Given the description of an element on the screen output the (x, y) to click on. 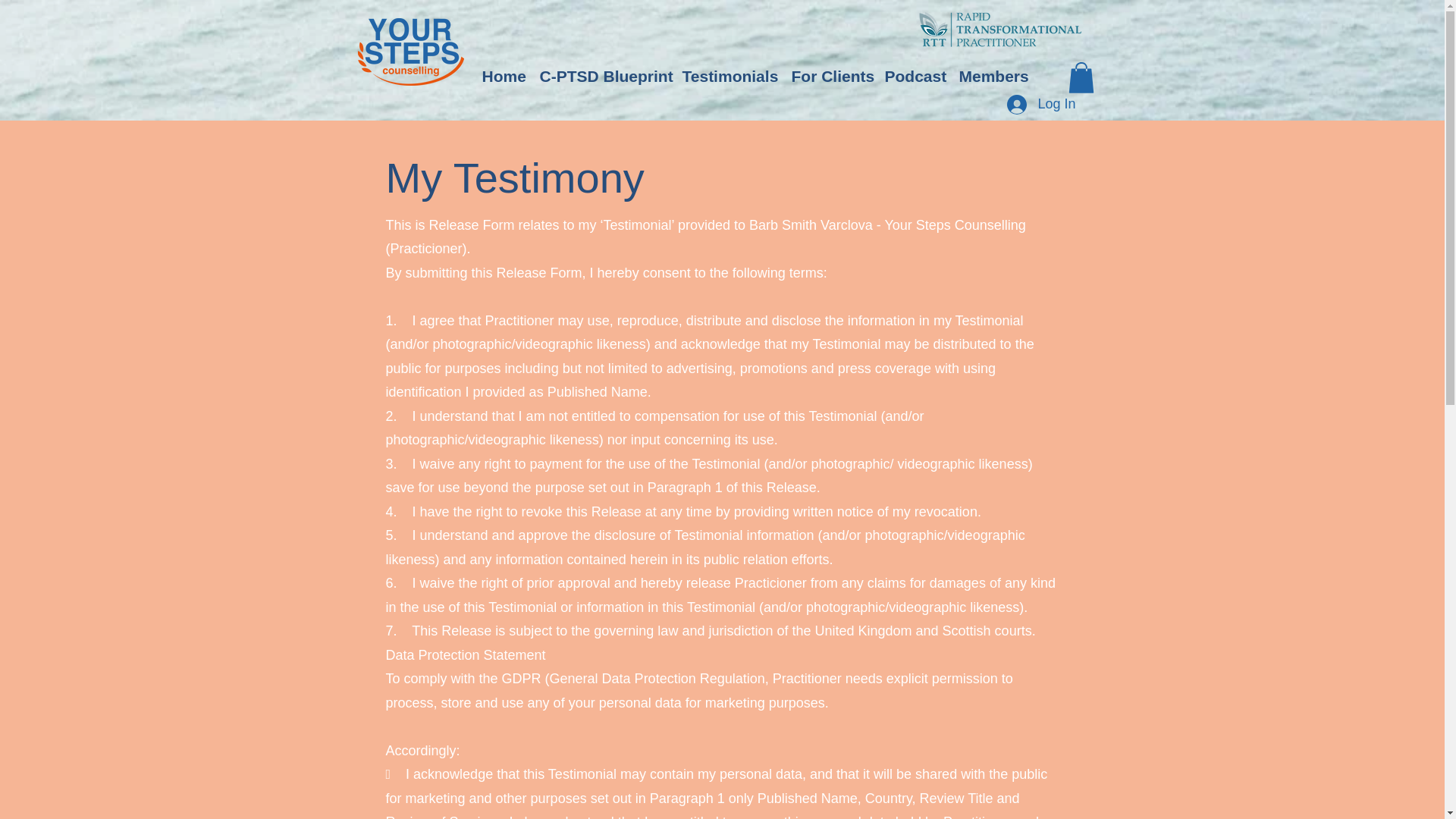
Podcast (913, 75)
Log In (1040, 104)
Members (991, 75)
C-PTSD Blueprint (603, 75)
Home (503, 75)
Testimonials (729, 75)
